Given the description of an element on the screen output the (x, y) to click on. 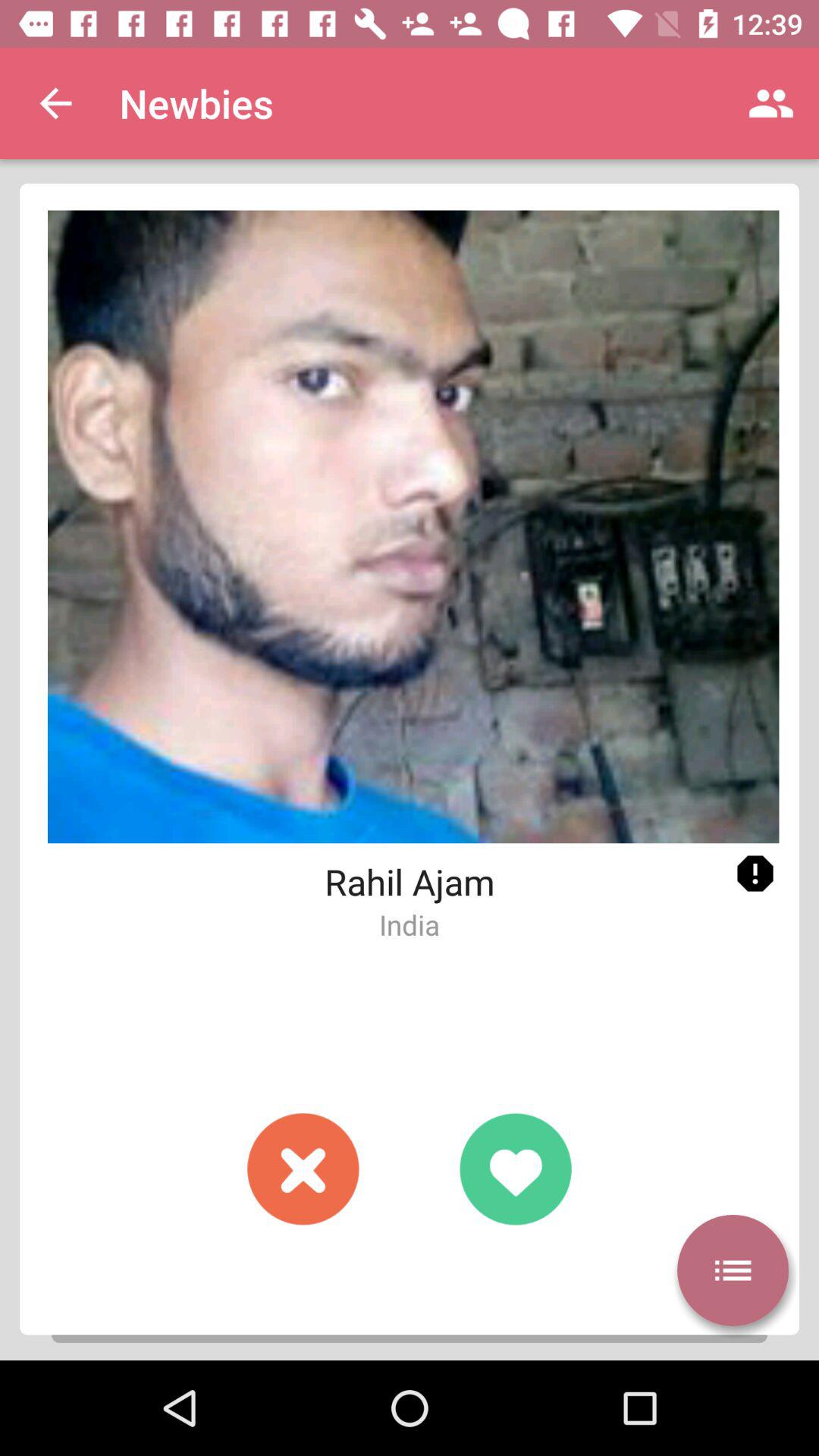
like (515, 1169)
